Given the description of an element on the screen output the (x, y) to click on. 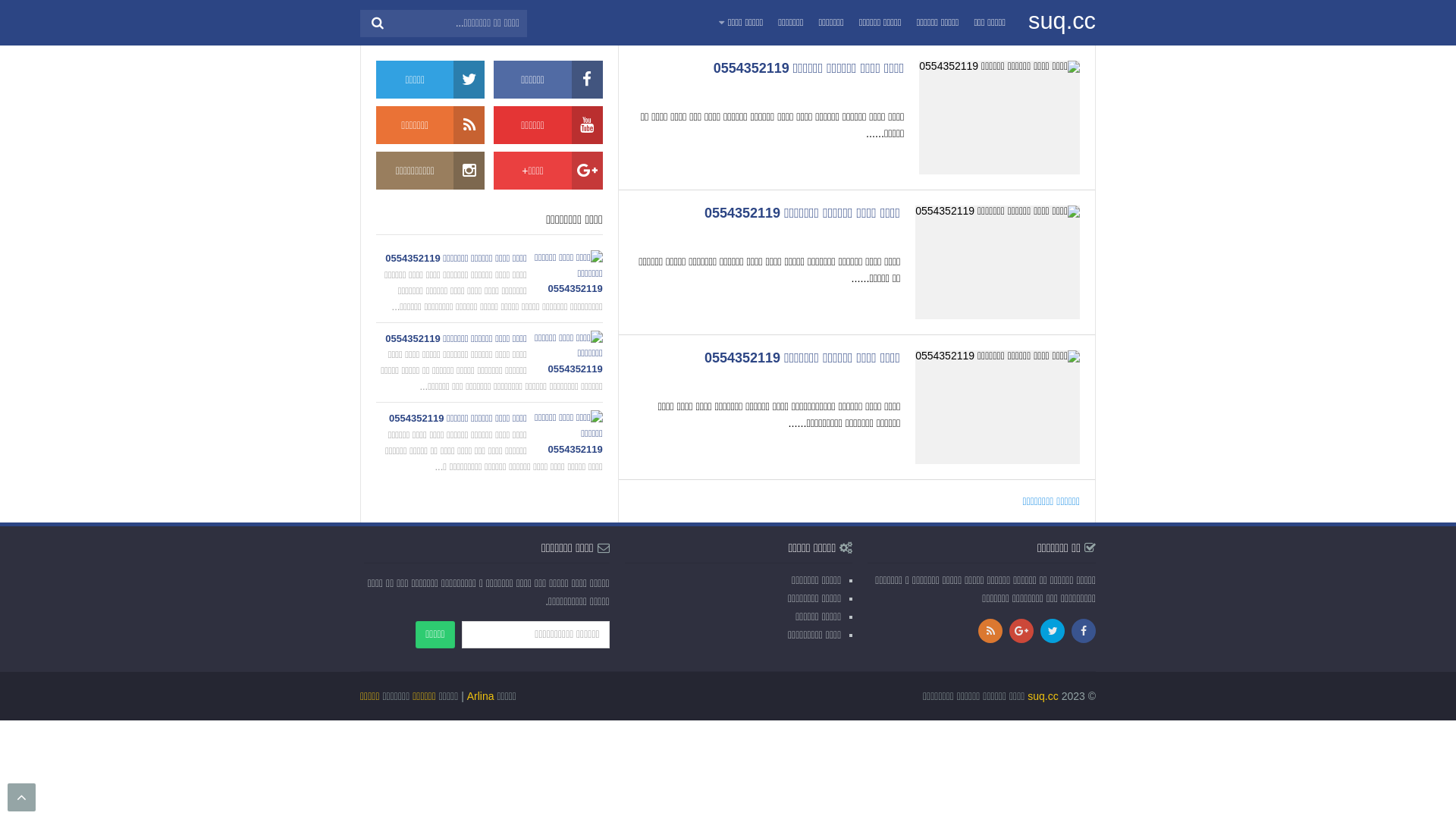
Arlina Element type: text (480, 696)
suq.cc Element type: text (1042, 696)
suq.cc Element type: text (1061, 20)
